Given the description of an element on the screen output the (x, y) to click on. 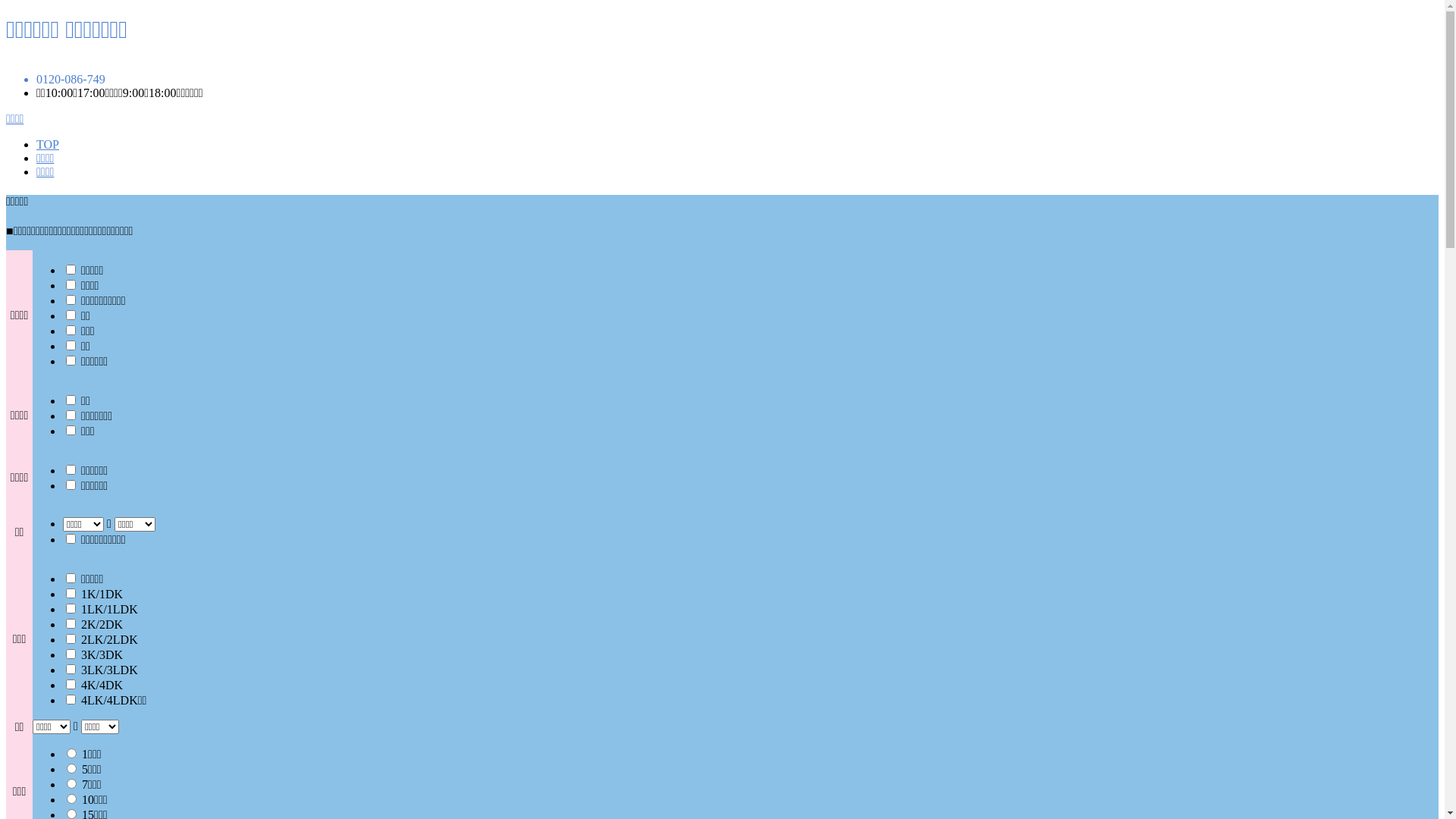
TOP Element type: text (47, 144)
